Given the description of an element on the screen output the (x, y) to click on. 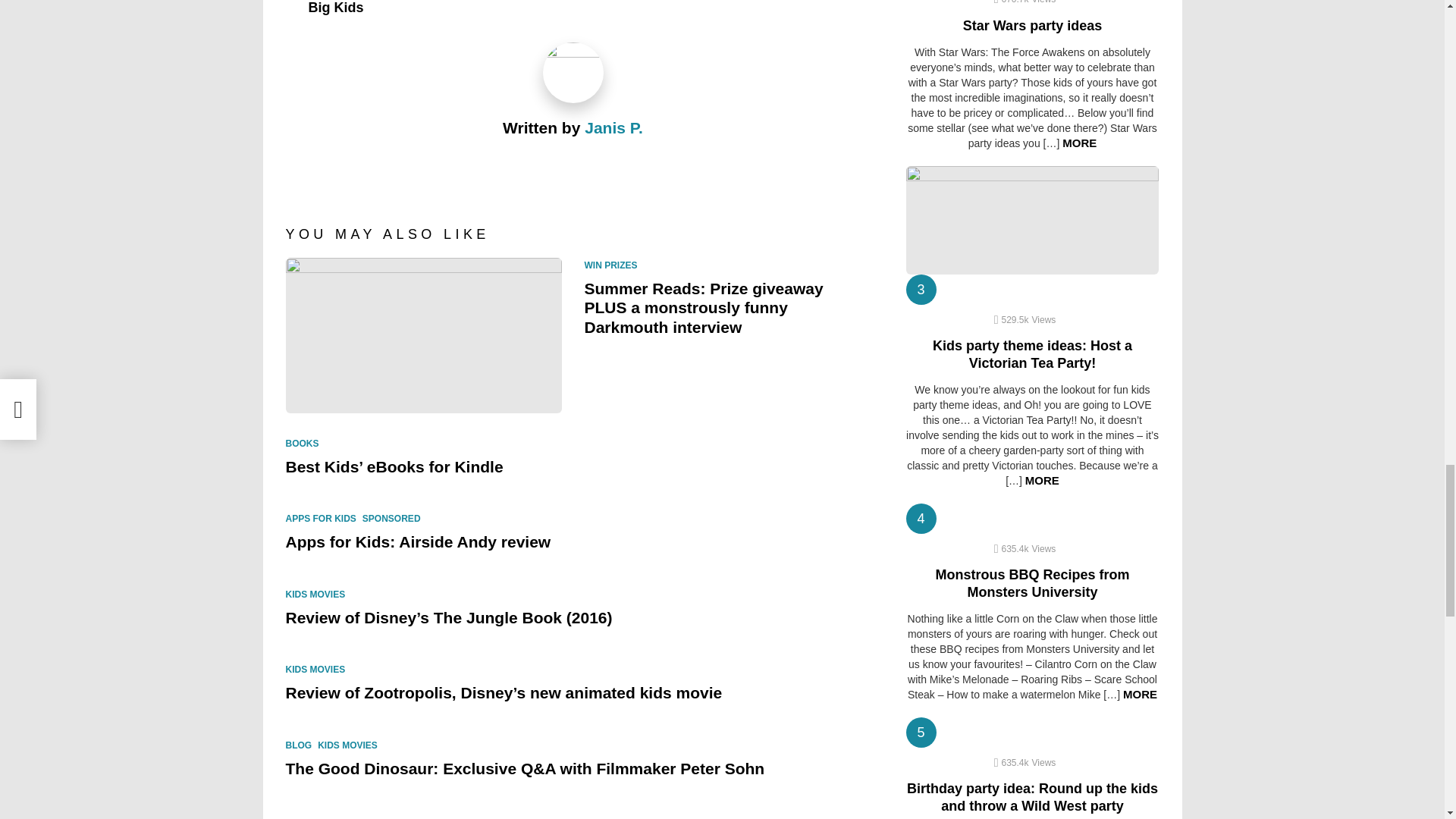
Janis P. (614, 126)
